Given the description of an element on the screen output the (x, y) to click on. 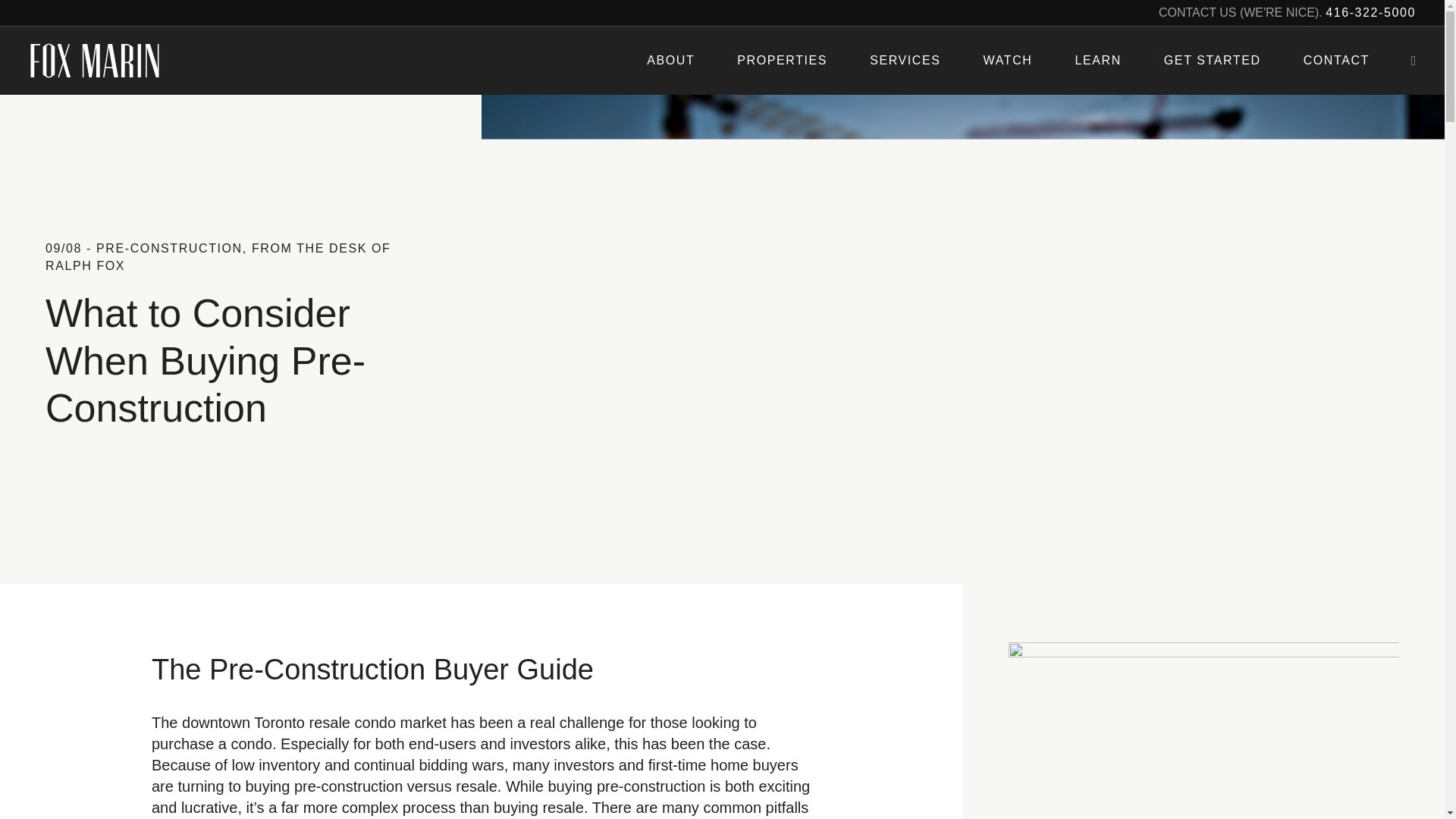
SERVICES (904, 60)
GET STARTED (1211, 60)
PROPERTIES (781, 60)
CONTACT (1336, 60)
